Given the description of an element on the screen output the (x, y) to click on. 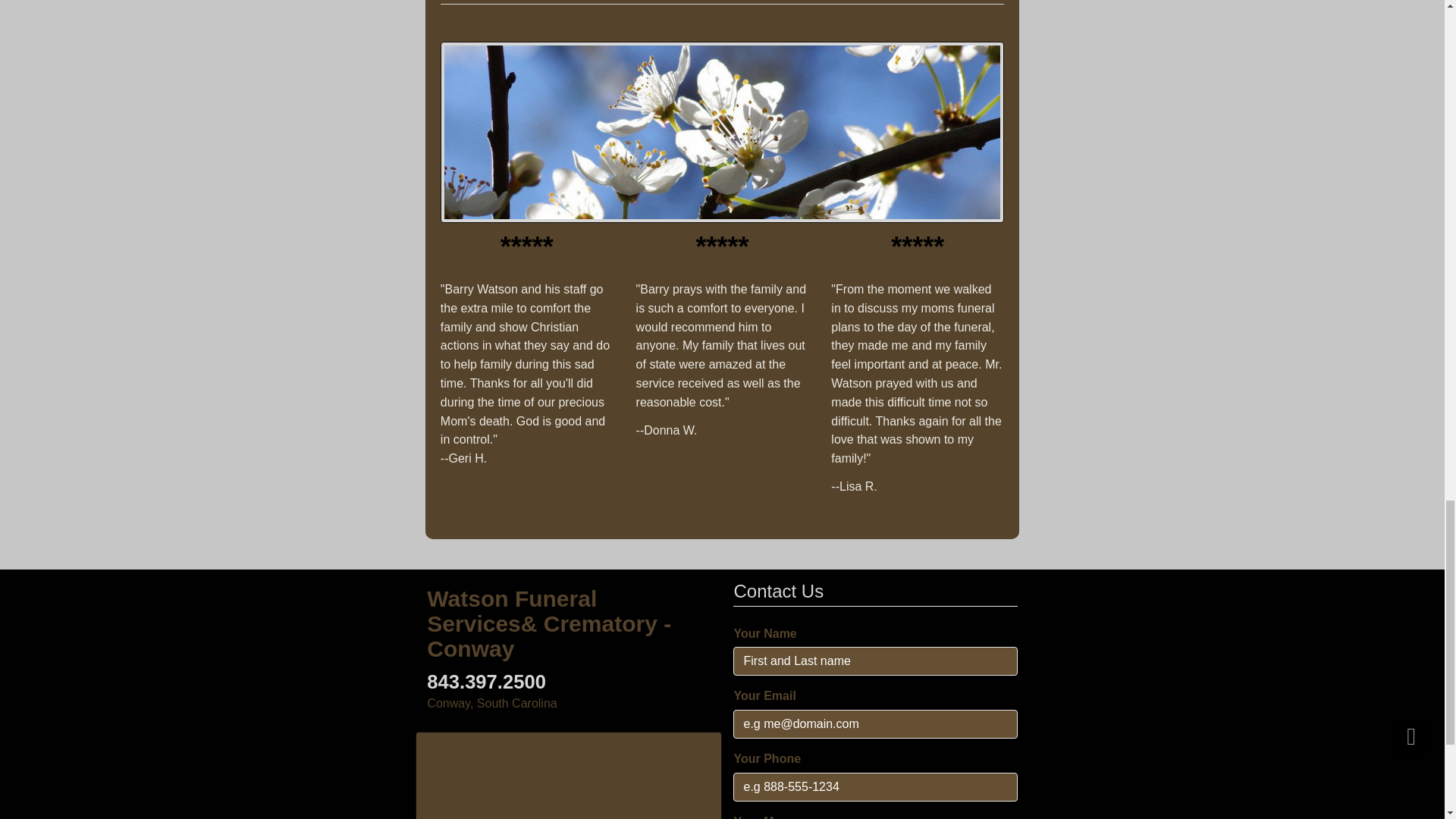
843.397.2500 (486, 681)
